Given the description of an element on the screen output the (x, y) to click on. 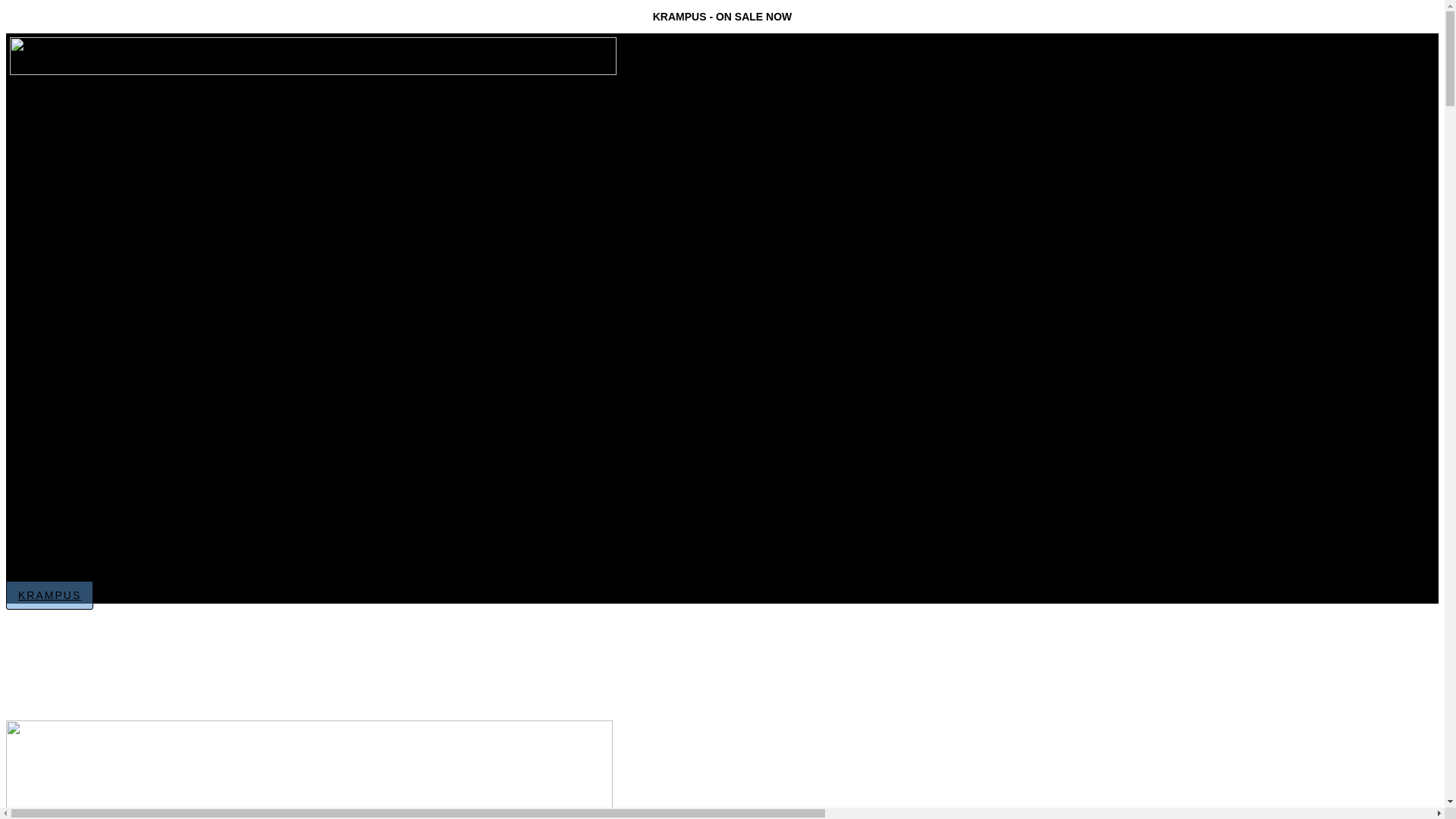
GROUP RATES Element type: text (95, 145)
KNOW BEFORE YOU GO Element type: text (114, 492)
TICKETS Element type: text (66, 100)
JOBS Element type: text (47, 538)
FRIGHT CLUB Element type: text (94, 507)
ABOUT Element type: text (61, 201)
TICKETS Element type: text (55, 356)
LOCATION Element type: text (58, 447)
ATTRACTIONS Element type: text (95, 216)
GALLERY Element type: text (69, 260)
GROUP RATES Element type: text (95, 401)
CALENDAR Element type: text (59, 431)
ATTRACTIONS Element type: text (95, 477)
CONNECT Element type: text (86, 568)
KRAMPUS Element type: text (49, 594)
BUY TICKETS Element type: text (94, 371)
ABOUT Element type: text (52, 462)
CALENDAR Element type: text (74, 174)
HELP Element type: text (47, 553)
KNOW BEFORE YOU GO Element type: text (114, 231)
GALLERY Element type: text (55, 522)
LOCATION Element type: text (72, 188)
SKIP THE LINE Element type: text (96, 386)
Skip to content Element type: text (6, 10)
BUY TICKETS Element type: text (94, 114)
SEASON PASS Element type: text (95, 416)
SEASON PASS Element type: text (95, 160)
CONNECT Element type: text (86, 302)
JOBS Element type: text (56, 274)
HELP Element type: text (56, 288)
SKIP THE LINE Element type: text (96, 130)
FRIGHT CLUB Element type: text (94, 246)
